Given the description of an element on the screen output the (x, y) to click on. 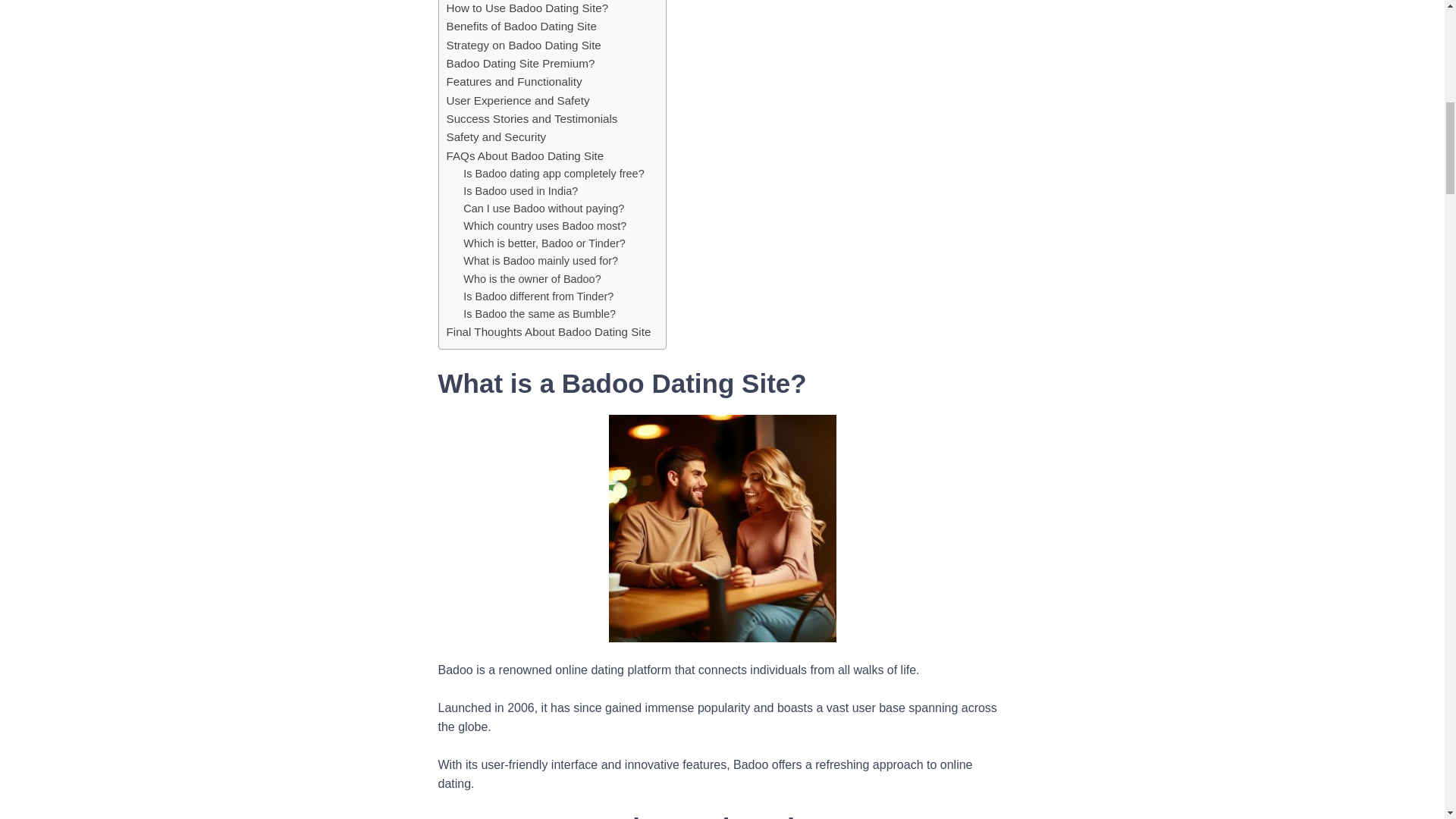
What is Badoo mainly used for? (540, 261)
Strategy on Badoo Dating Site (522, 45)
Badoo Dating Site Premium? (519, 63)
What is Badoo mainly used for? (540, 261)
Who is the owner of Badoo? (531, 278)
How to Use Badoo Dating Site? (526, 8)
Which country uses Badoo most? (544, 226)
FAQs About Badoo Dating Site (524, 156)
Is Badoo the same as Bumble? (539, 313)
Safety and Security (495, 136)
Can I use Badoo without paying? (543, 208)
Which is better, Badoo or Tinder? (543, 243)
How to Use Badoo Dating Site? (526, 8)
Badoo Dating Site Premium? (519, 63)
Is Badoo dating app completely free? (553, 173)
